Given the description of an element on the screen output the (x, y) to click on. 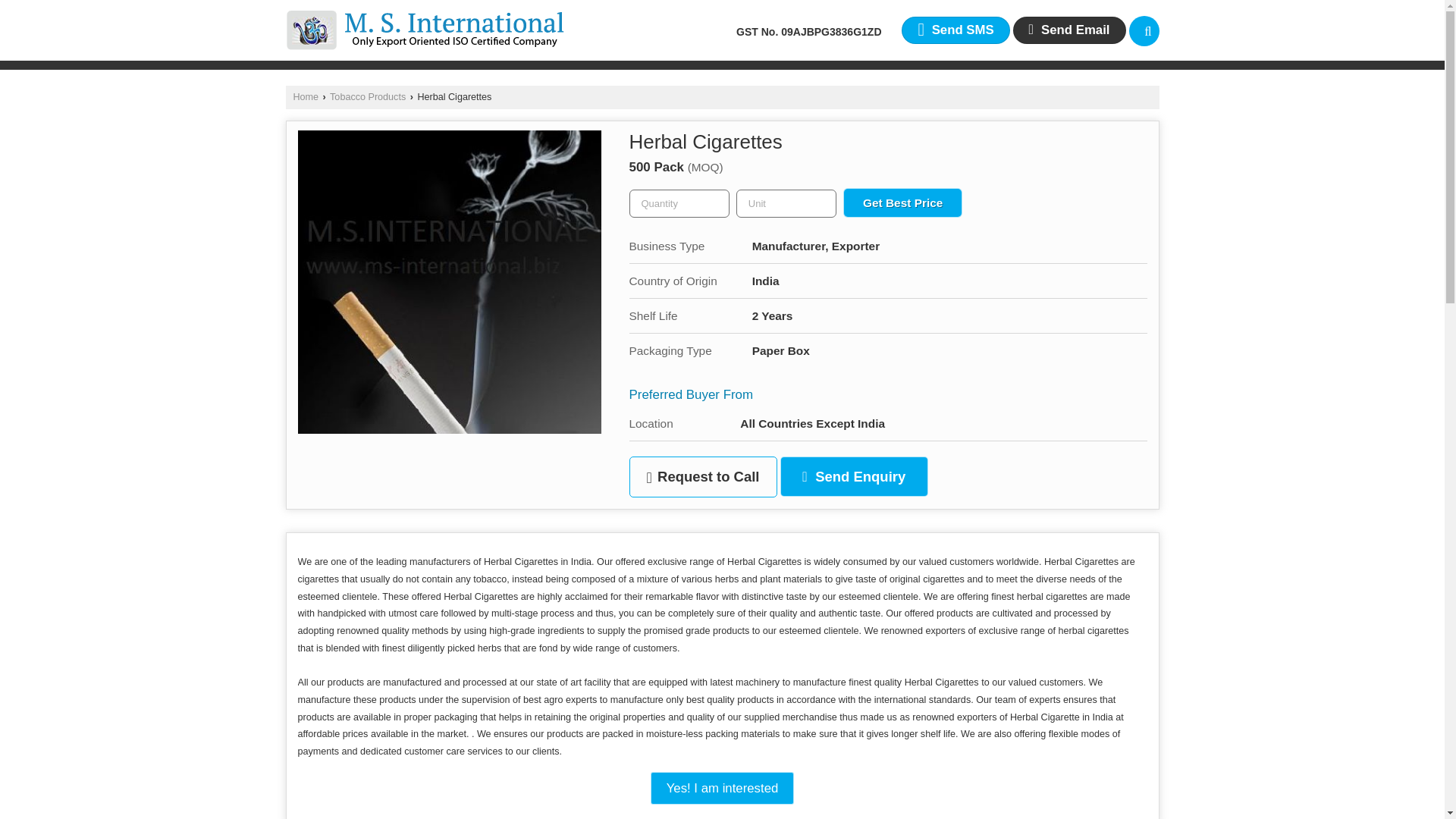
Send Email (1069, 30)
M. S. International (424, 29)
Send SMS (955, 30)
Search (1143, 30)
